Given the description of an element on the screen output the (x, y) to click on. 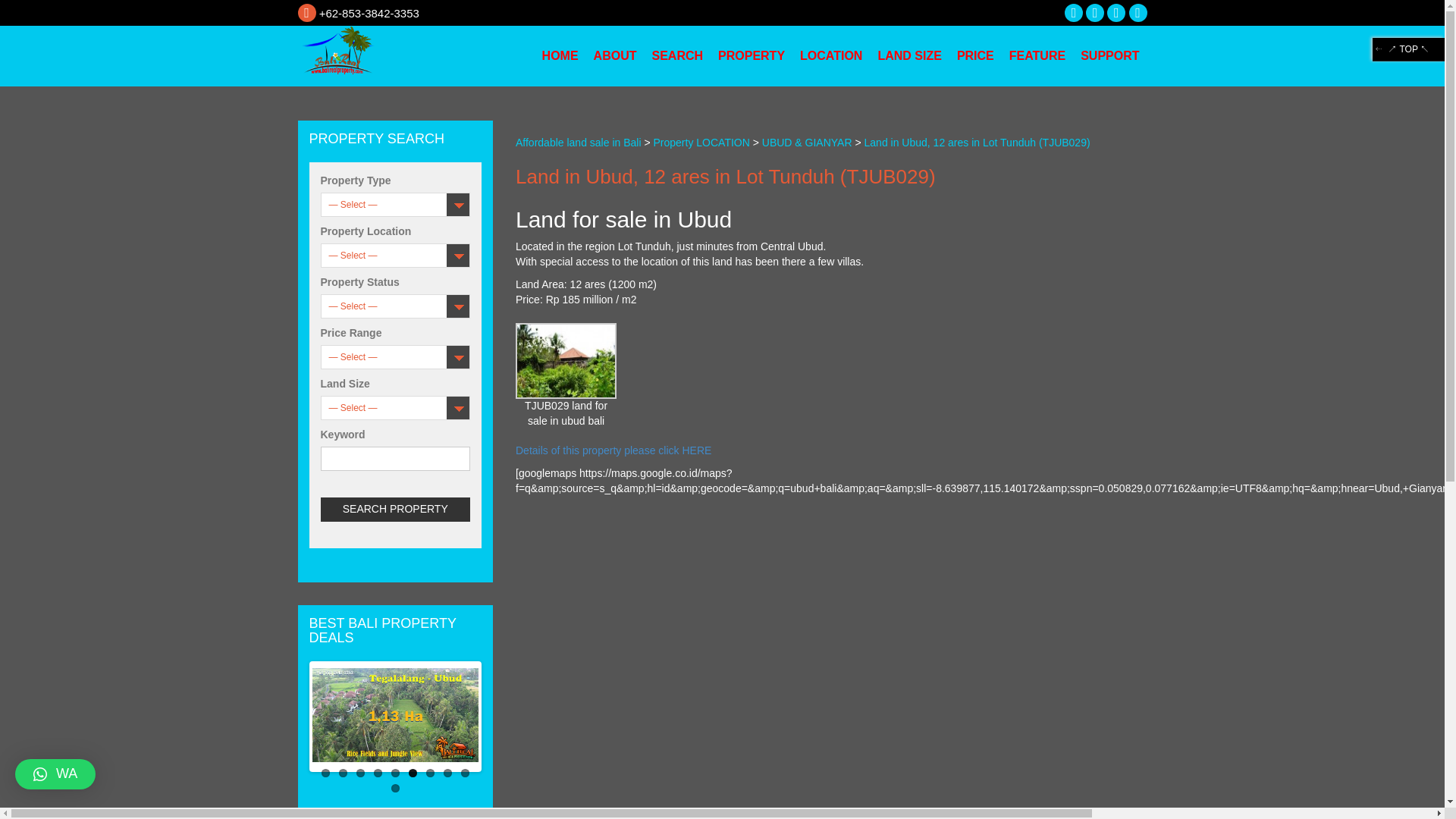
LOCATION (830, 55)
Like us on Facebook (1073, 12)
ABOUT (615, 55)
Follow us on Google Plus (1115, 12)
PROPERTY (751, 55)
Affordable land sale in Bali (395, 54)
LinkedIn (1137, 12)
SEARCH (676, 55)
Follow us on Twitter (1094, 12)
